Given the description of an element on the screen output the (x, y) to click on. 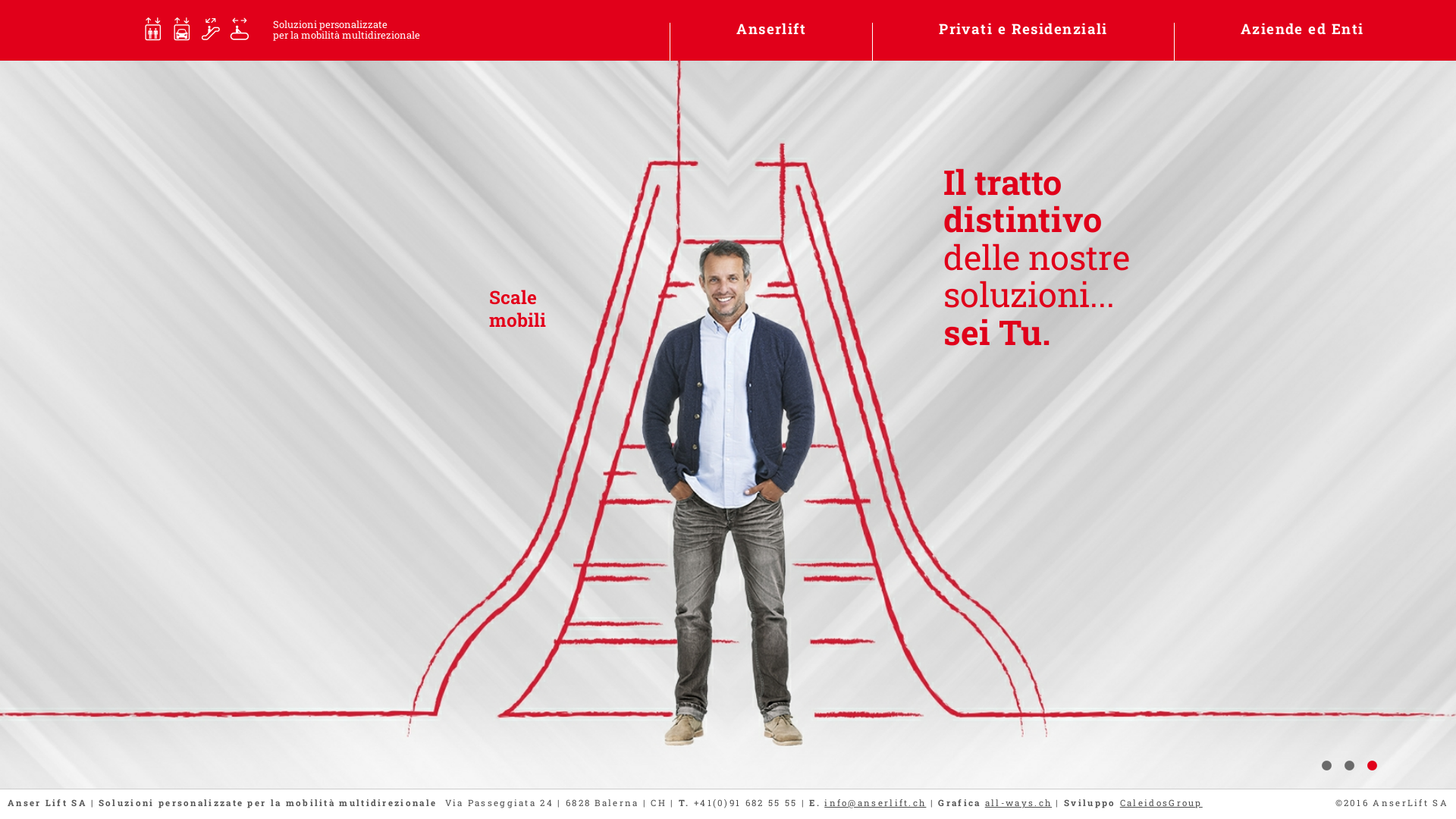
all-ways.ch Element type: text (1018, 802)
1 Element type: text (1325, 765)
Anserlift Element type: text (771, 28)
3 Element type: text (1371, 765)
Privati e Residenziali Element type: text (1022, 28)
Torna alla Homepage Element type: text (71, 30)
2 Element type: text (1348, 765)
CaleidosGroup Element type: text (1161, 802)
info@anserlift.ch Element type: text (874, 802)
Aziende ed Enti Element type: text (1302, 28)
